Given the description of an element on the screen output the (x, y) to click on. 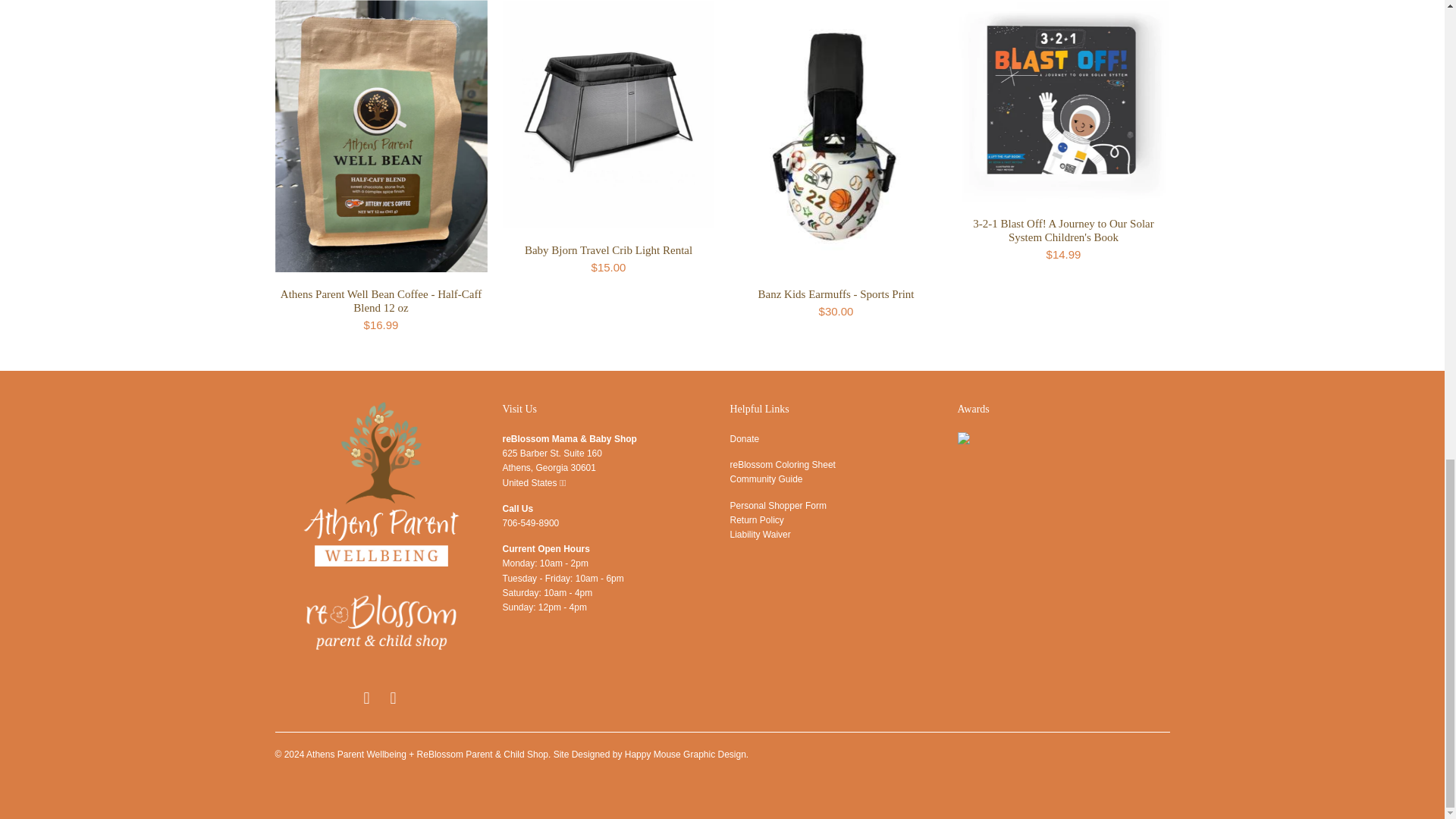
Personal Shopper (777, 505)
Liability Waiver (759, 534)
Return Policy (756, 520)
